Given the description of an element on the screen output the (x, y) to click on. 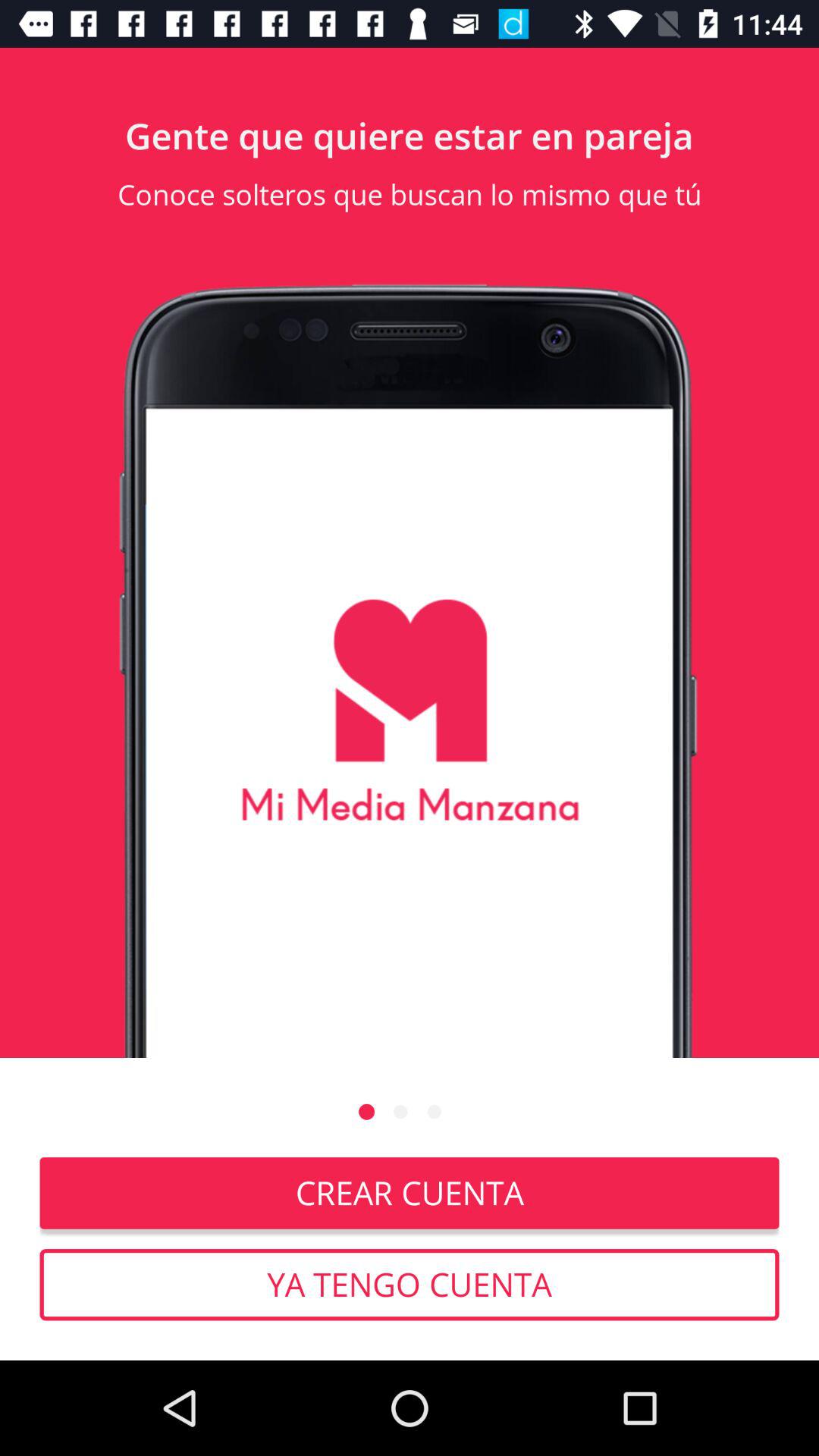
choose the crear cuenta item (409, 1193)
